Given the description of an element on the screen output the (x, y) to click on. 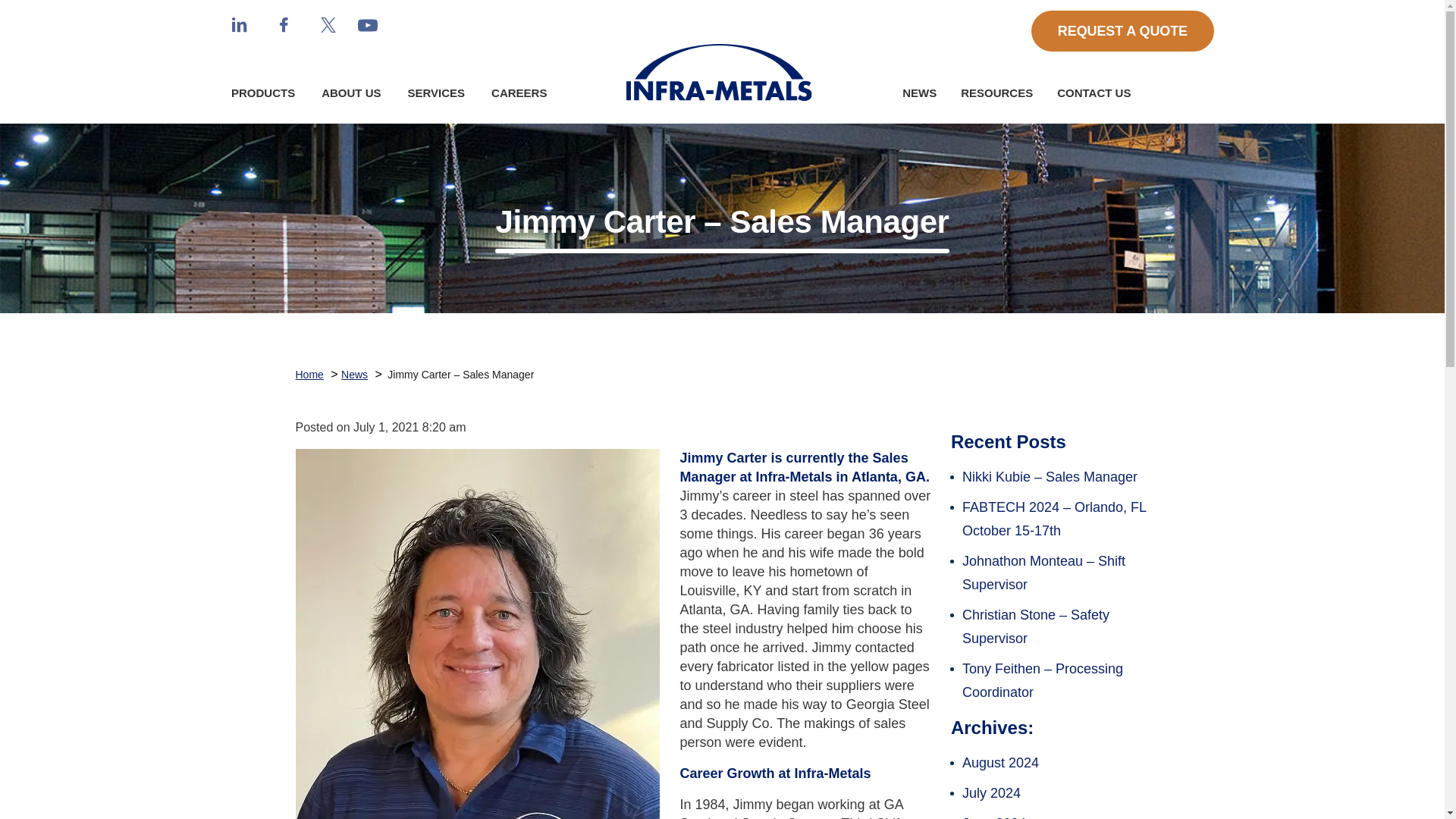
PRODUCTS (267, 97)
Linkedin (239, 24)
Infra-Metals Co. (718, 72)
REQUEST A QUOTE (1122, 30)
ABOUT US (350, 97)
YouTube (367, 25)
Twitter (328, 24)
